Given the description of an element on the screen output the (x, y) to click on. 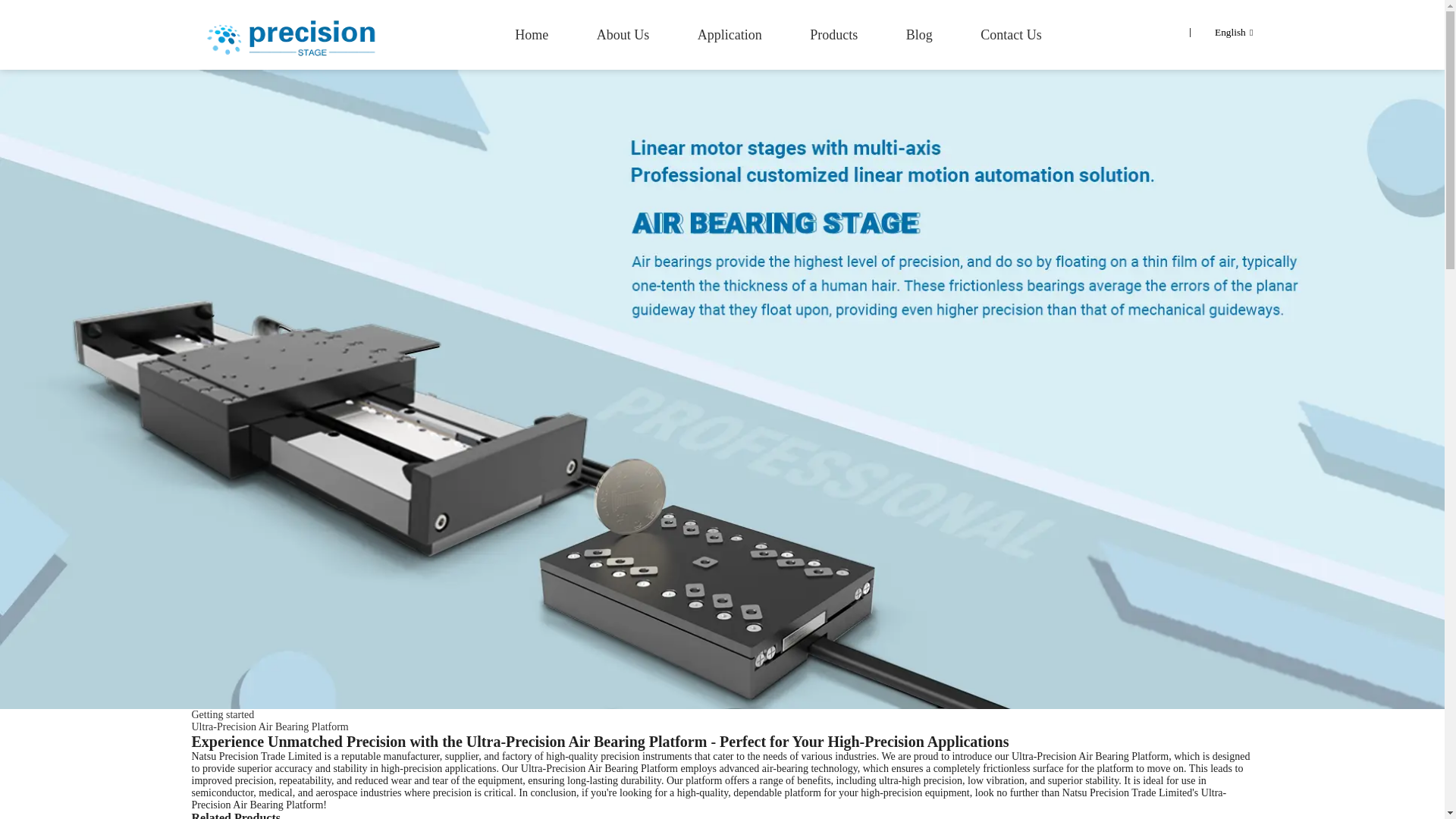
About Us (622, 34)
Contact Us (1010, 34)
Getting started (221, 714)
Products (833, 34)
English (1220, 31)
Application (729, 34)
Ultra-Precision Air Bearing Platform (268, 726)
Blog (919, 34)
Home (531, 34)
